Given the description of an element on the screen output the (x, y) to click on. 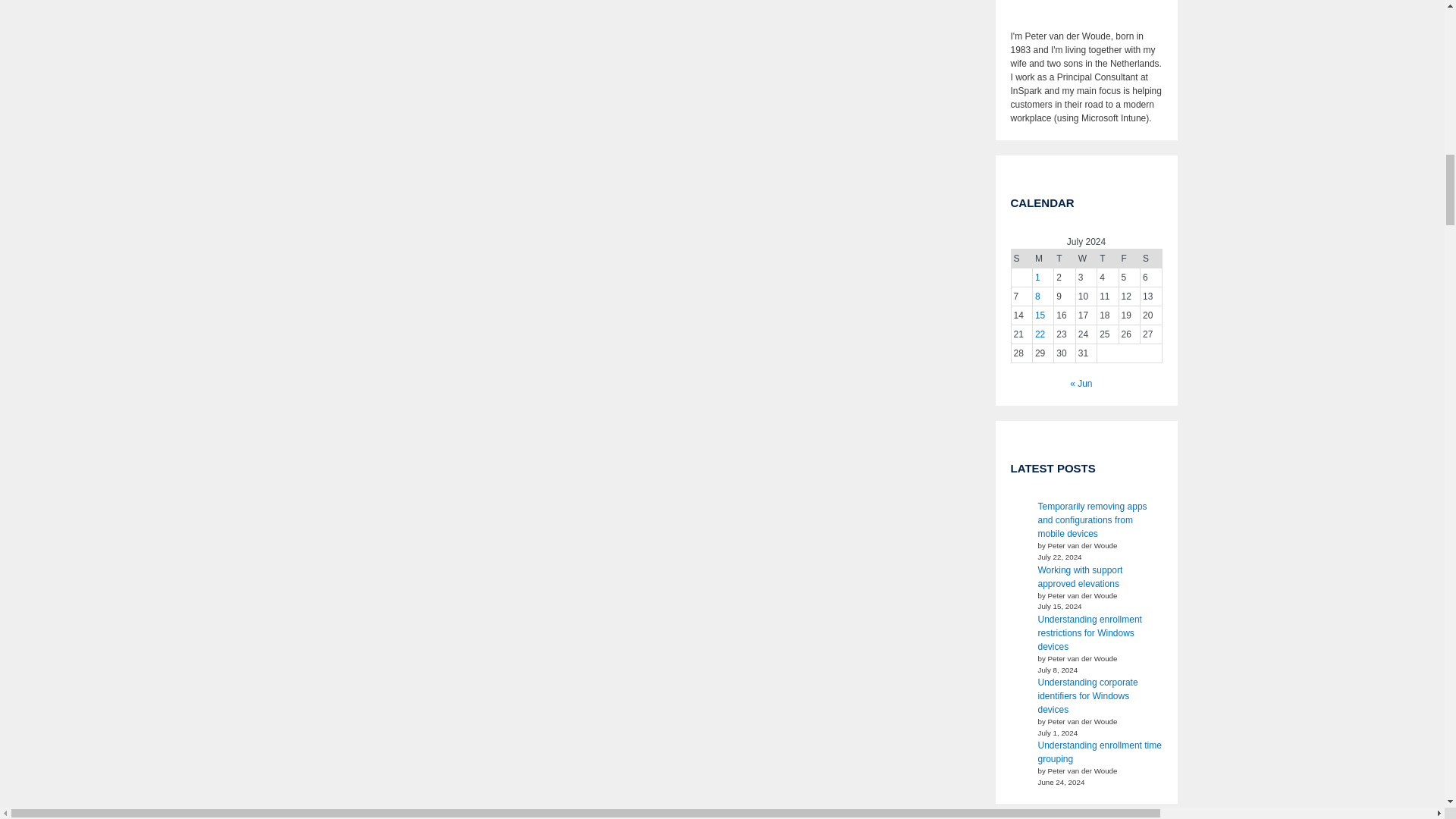
Friday (1129, 257)
Sunday (1021, 257)
Saturday (1150, 257)
Thursday (1107, 257)
Understanding enrollment time grouping (1098, 752)
Working with support approved elevations (1079, 576)
Tuesday (1064, 257)
1 (1038, 276)
Understanding enrollment restrictions for Windows devices (1088, 632)
Understanding corporate identifiers for Windows devices (1086, 695)
Monday (1042, 257)
Wednesday (1085, 257)
8 (1038, 296)
22 (1040, 334)
